Given the description of an element on the screen output the (x, y) to click on. 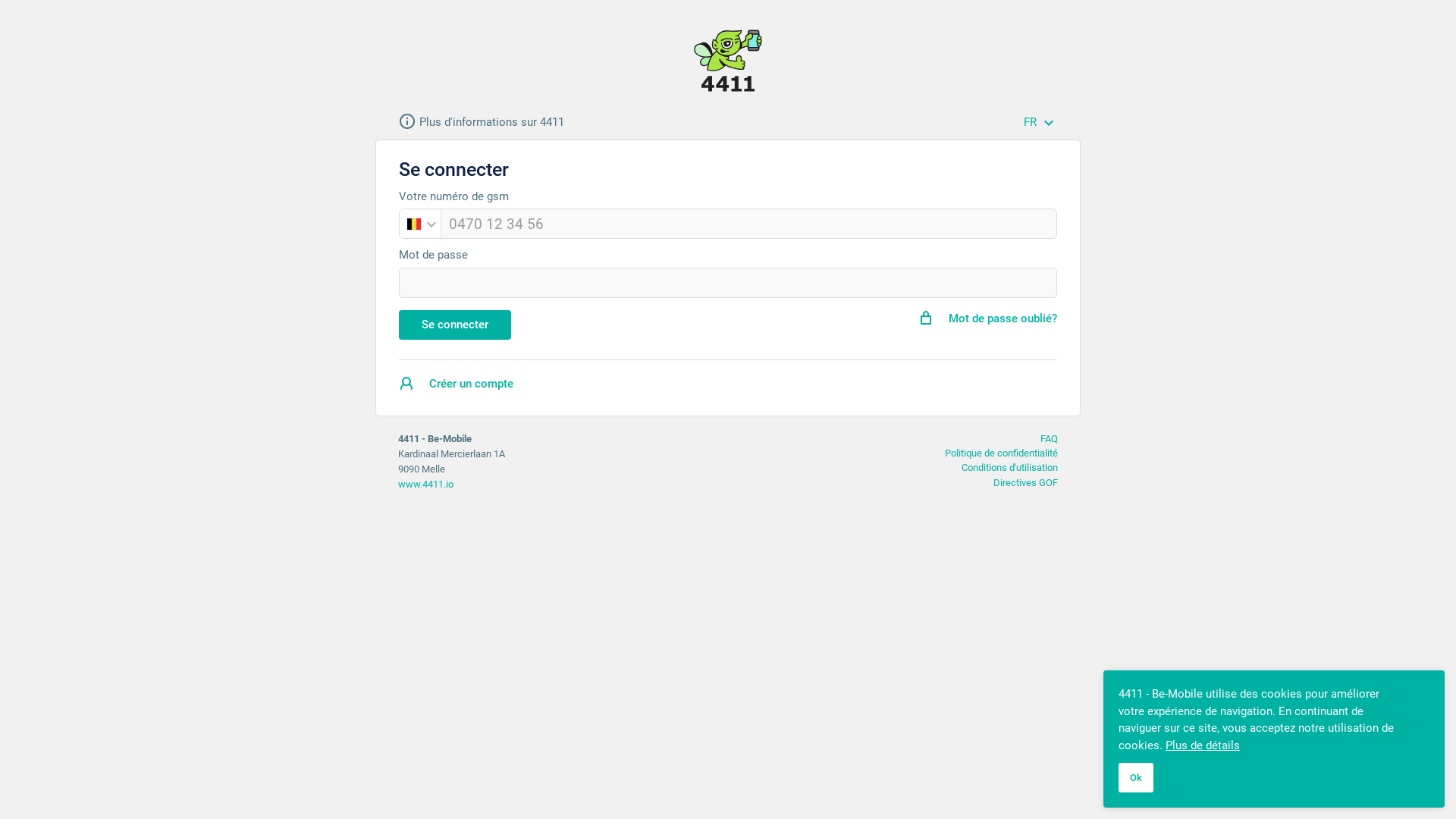
www.4411.io Element type: text (425, 483)
Conditions d'utilisation Element type: text (1009, 467)
FAQ Element type: text (1048, 438)
Directives GOF Element type: text (1025, 482)
Se connecter Element type: text (454, 325)
Ok Element type: text (1135, 777)
